Given the description of an element on the screen output the (x, y) to click on. 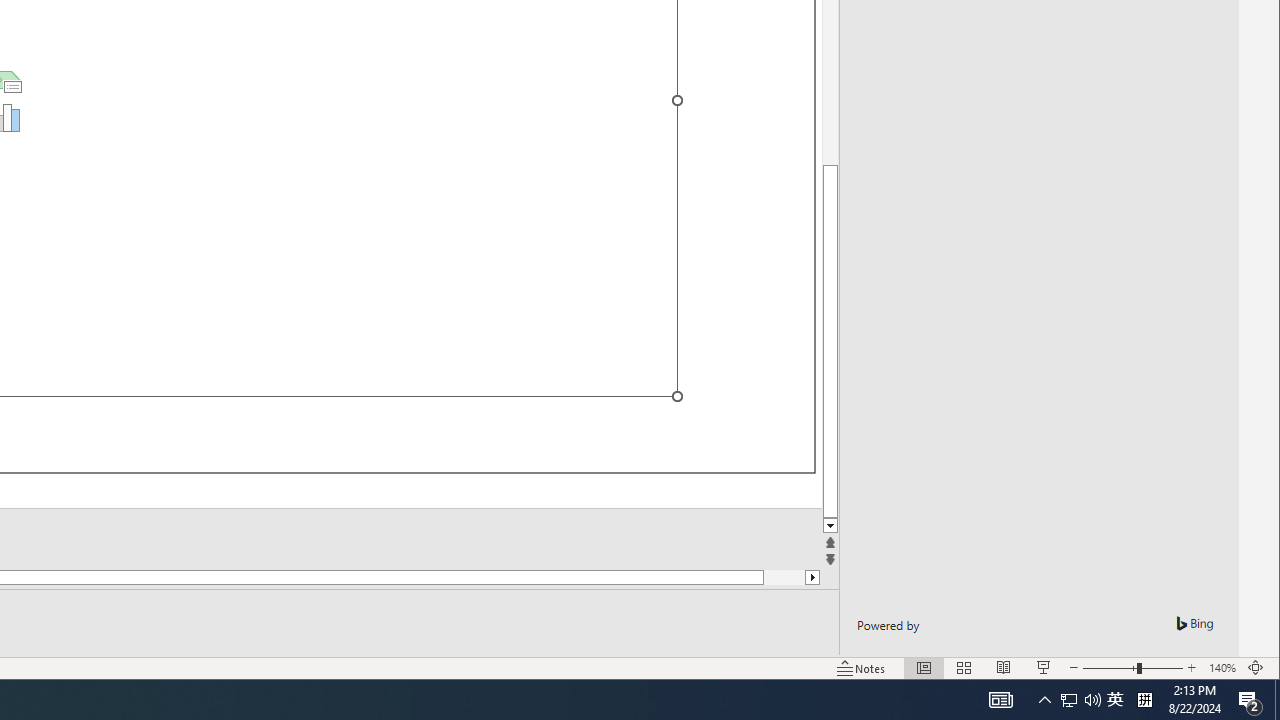
Zoom 140% (1222, 668)
